Given the description of an element on the screen output the (x, y) to click on. 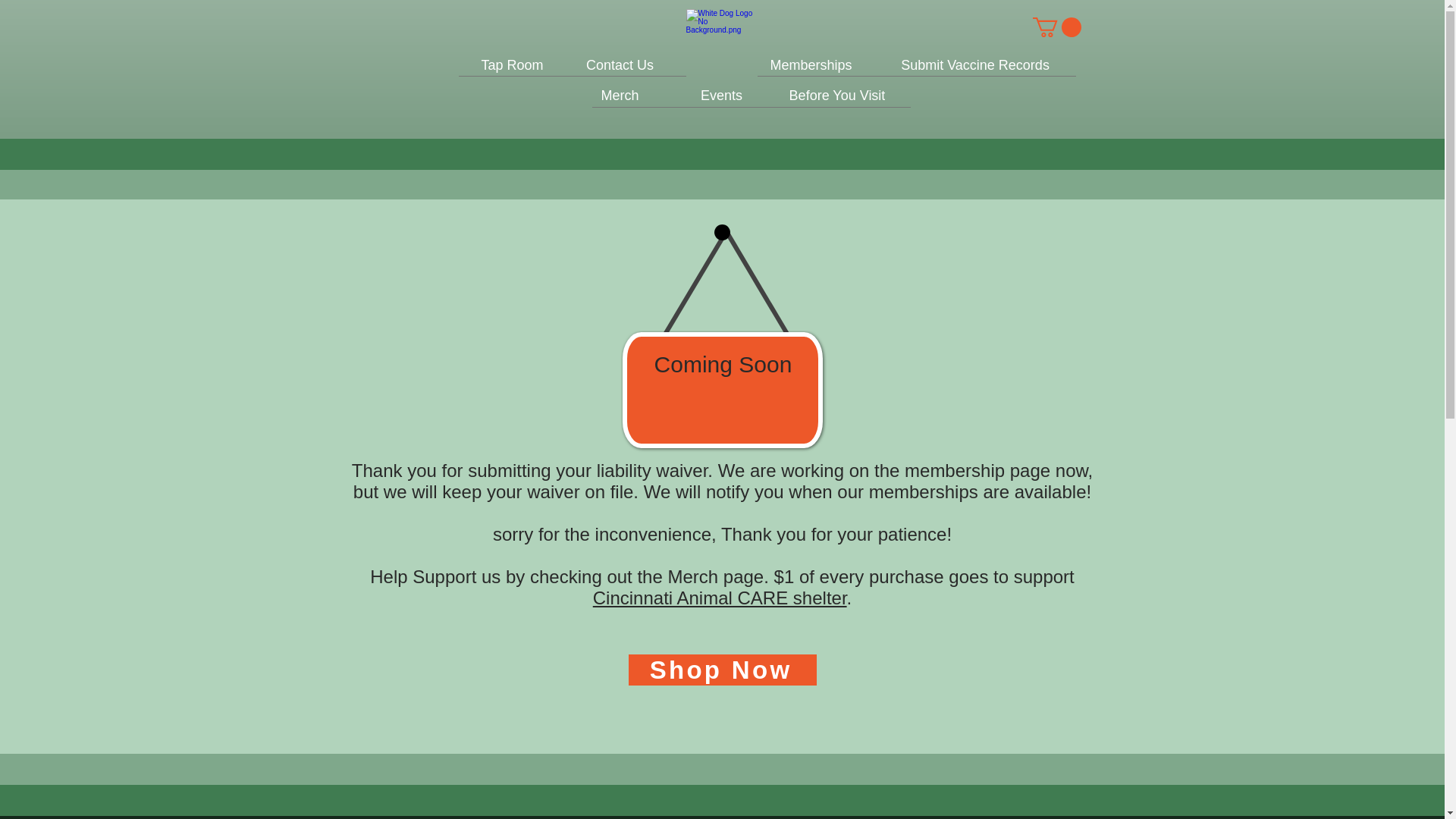
Tap Room (512, 64)
Merch (619, 95)
Memberships (810, 64)
Submit Vaccine Records (975, 64)
Events (721, 95)
Home (721, 44)
Before You Visit (836, 95)
Contact Us (619, 64)
Shop Now (721, 669)
